Given the description of an element on the screen output the (x, y) to click on. 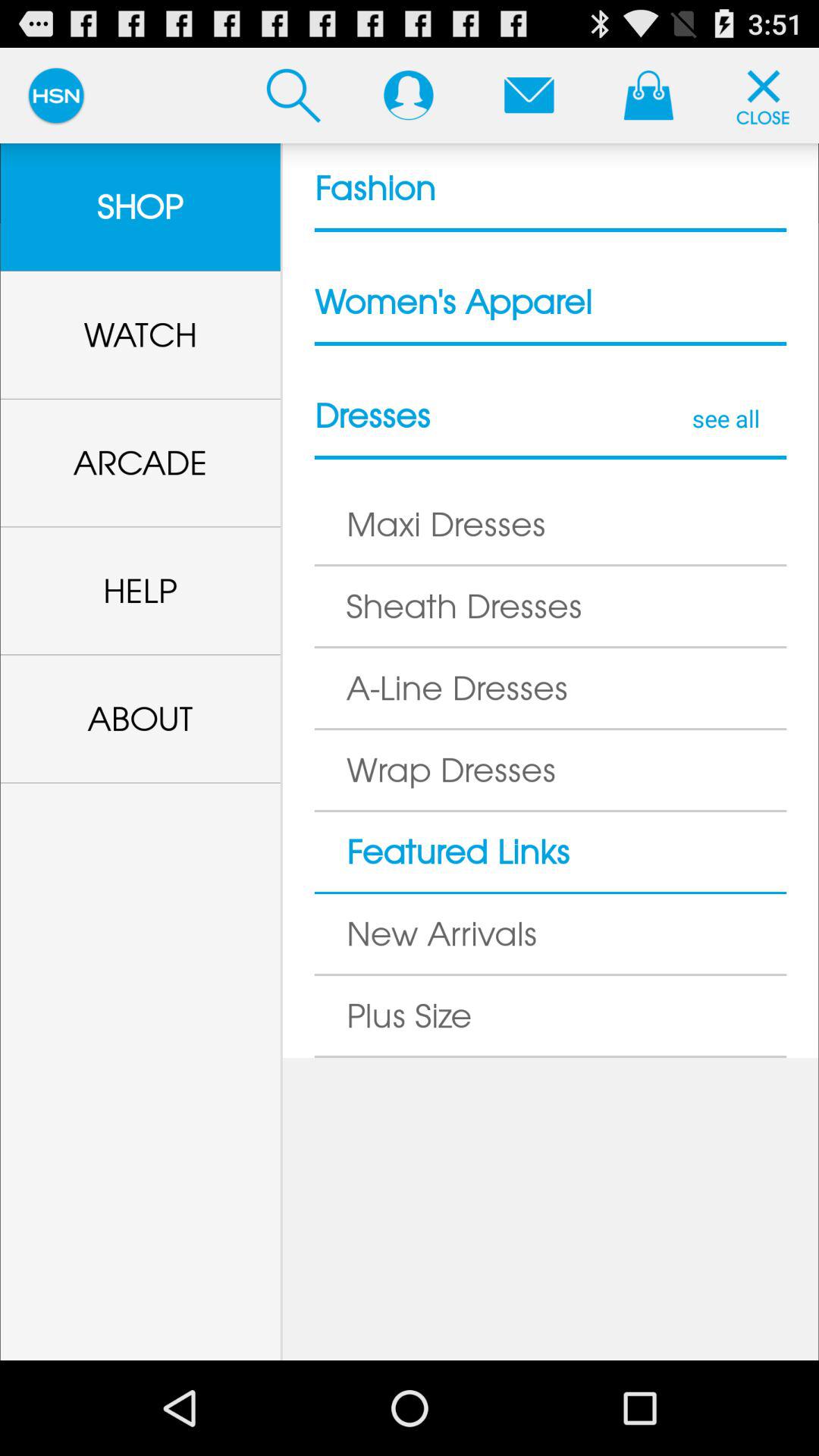
profile button (408, 95)
